Given the description of an element on the screen output the (x, y) to click on. 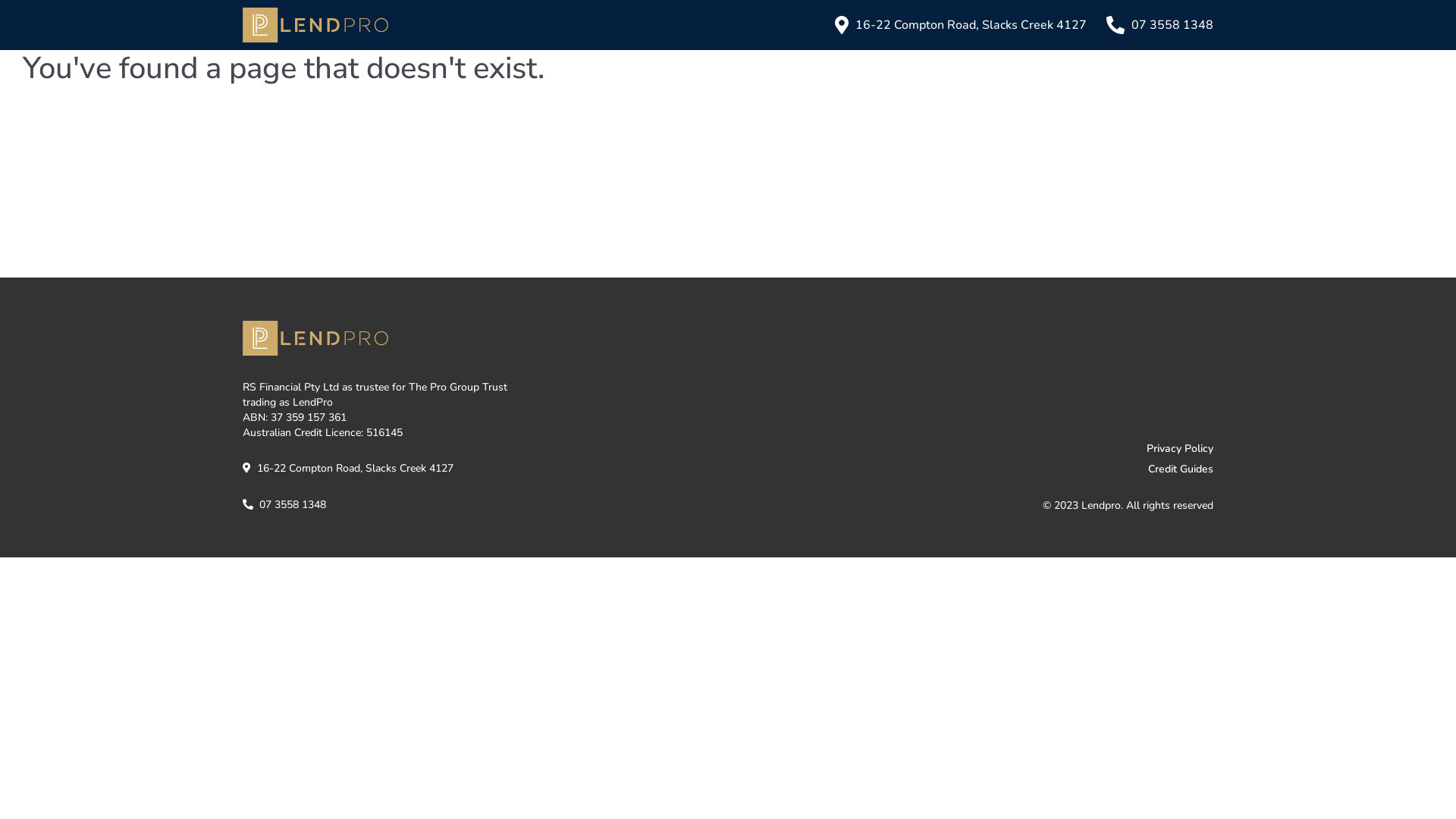
16-22 Compton Road, Slacks Creek 4127 Element type: text (955, 24)
07 3558 1348 Element type: text (284, 504)
16-22 Compton Road, Slacks Creek 4127 Element type: text (347, 468)
Privacy Policy Element type: text (974, 448)
Credit Guides Element type: text (974, 468)
07 3558 1348 Element type: text (1157, 24)
